Given the description of an element on the screen output the (x, y) to click on. 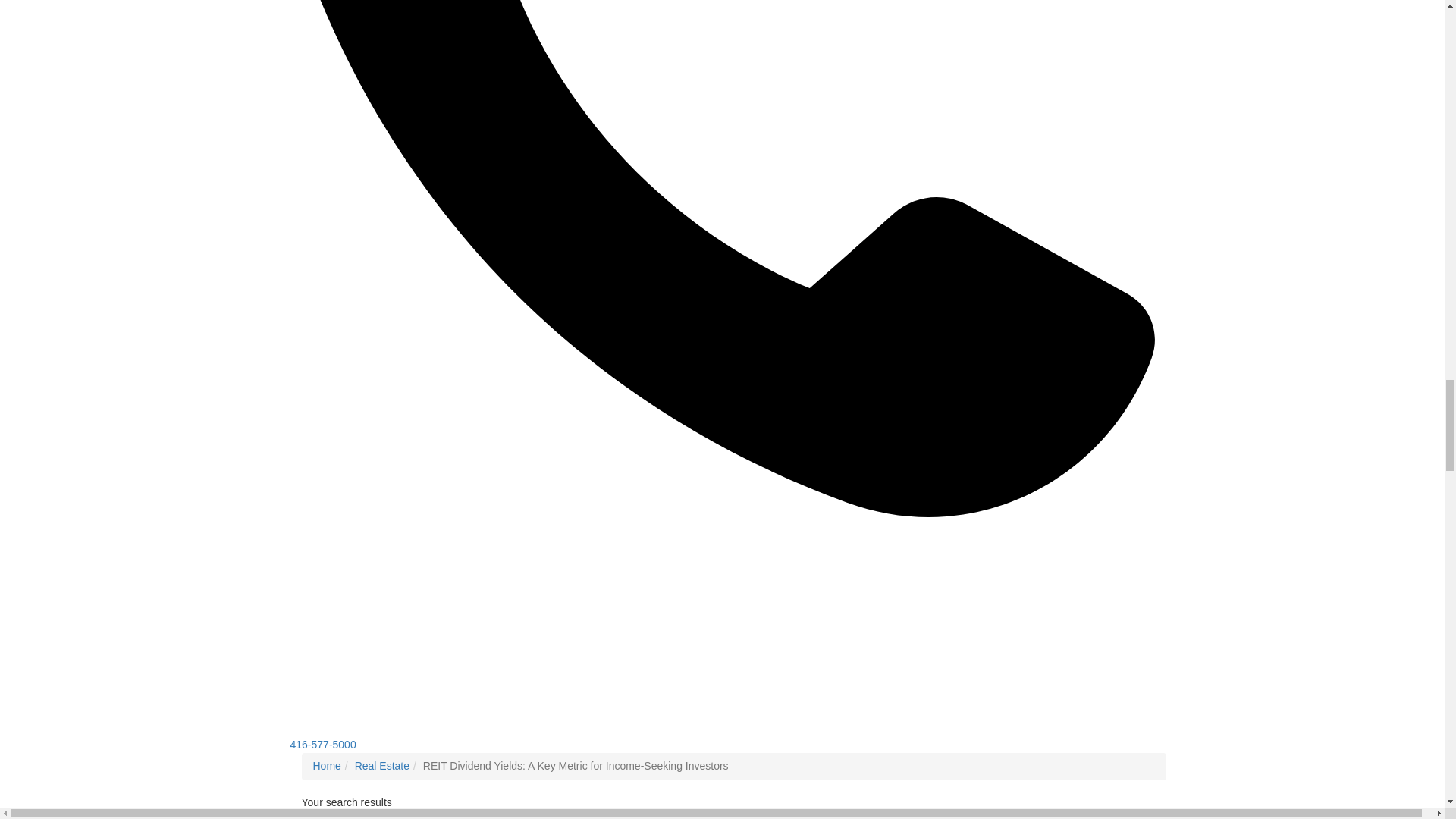
Real Estate (382, 766)
Home (326, 766)
416-577-5000 (322, 744)
